Given the description of an element on the screen output the (x, y) to click on. 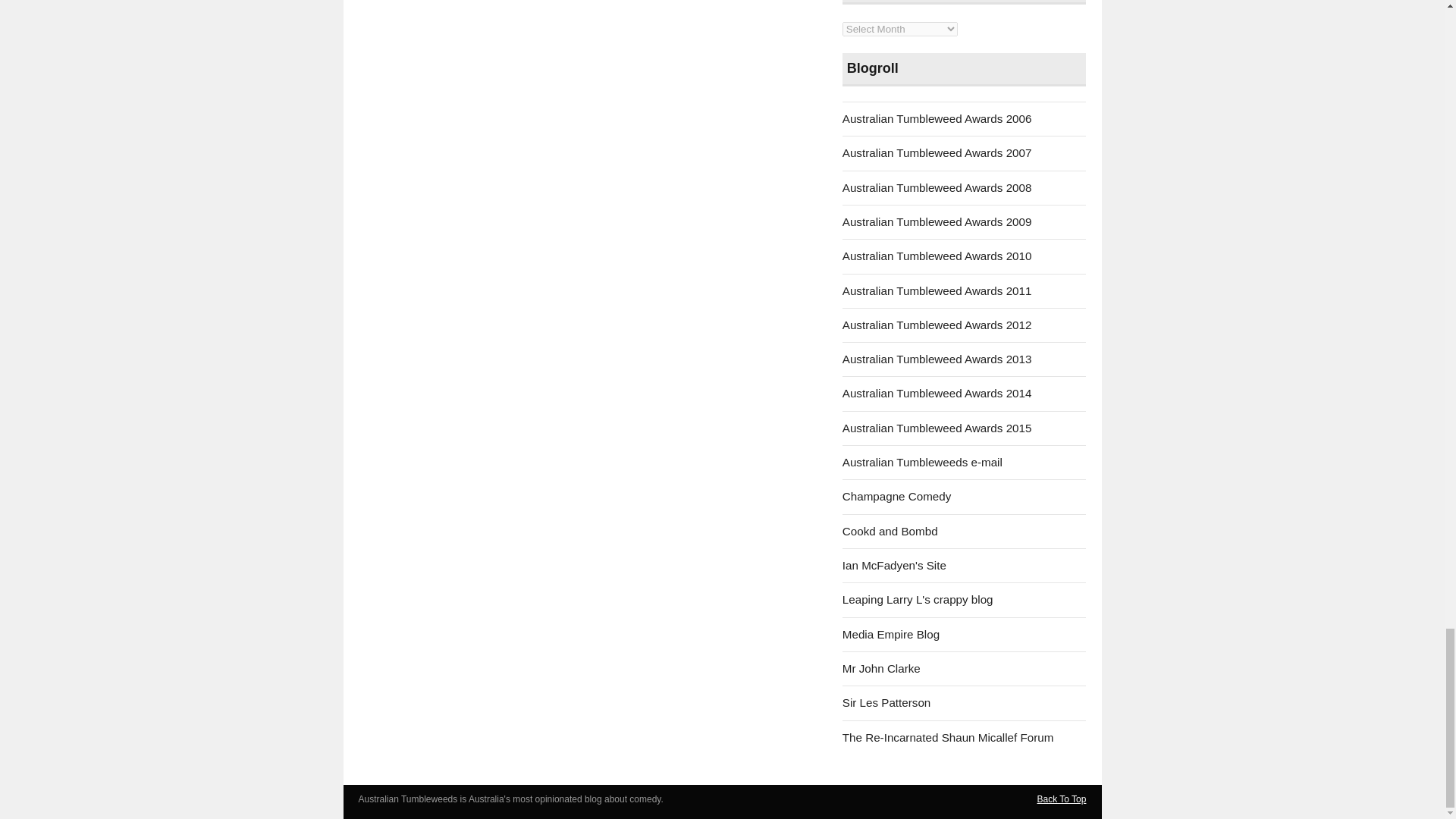
Australian Tumbleweed Awards 2014 (937, 392)
Back To Top (1061, 798)
GNW jokes (891, 634)
Sadly obvious (894, 564)
